Given the description of an element on the screen output the (x, y) to click on. 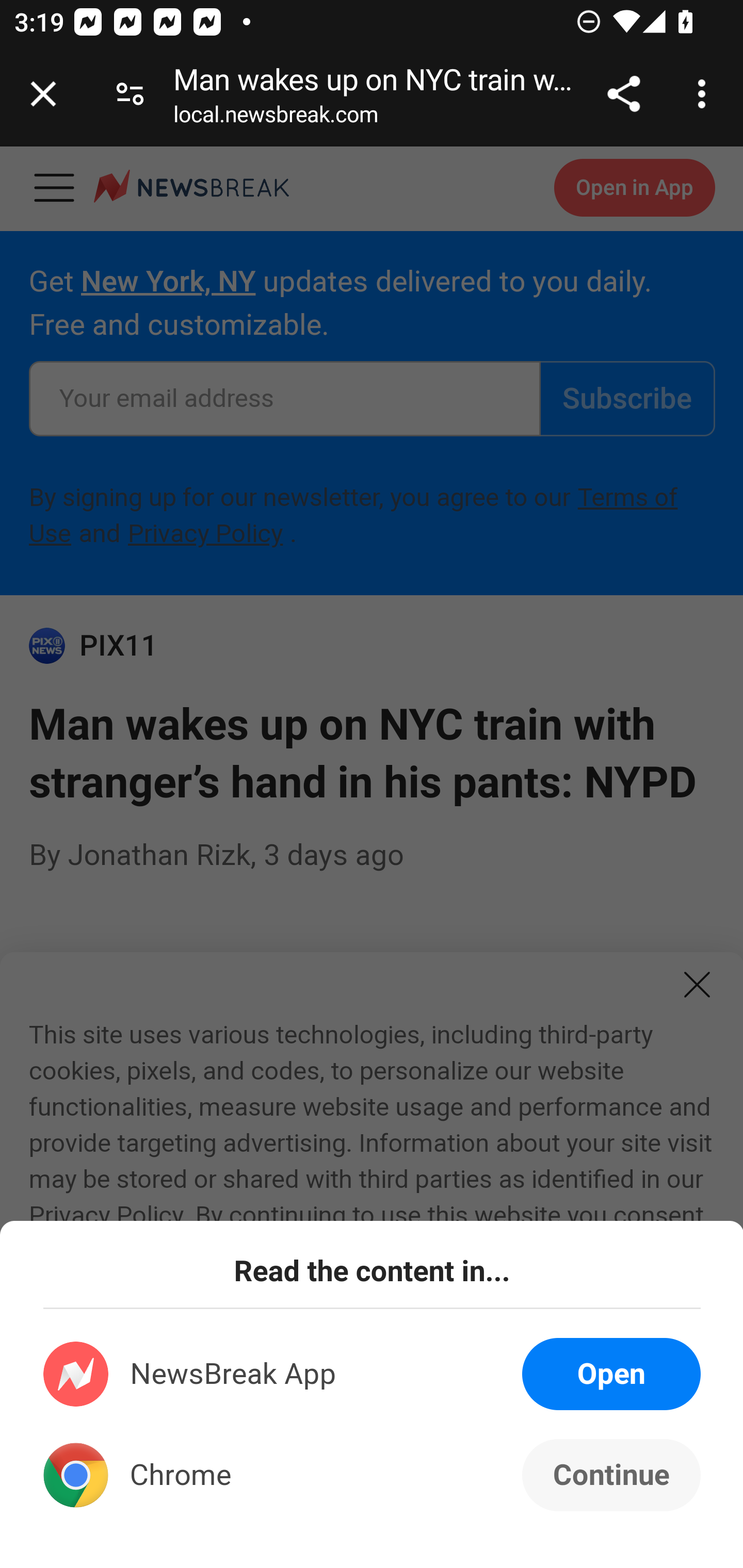
Close tab (43, 93)
Share link address (623, 93)
Customize and control Google Chrome (705, 93)
Connection is secure (129, 93)
local.newsbreak.com (275, 117)
Download App NewsBreak App NewsBreak App Open (372, 1374)
Open (611, 1374)
Accept Cookies (231, 1458)
Continue (611, 1475)
